Given the description of an element on the screen output the (x, y) to click on. 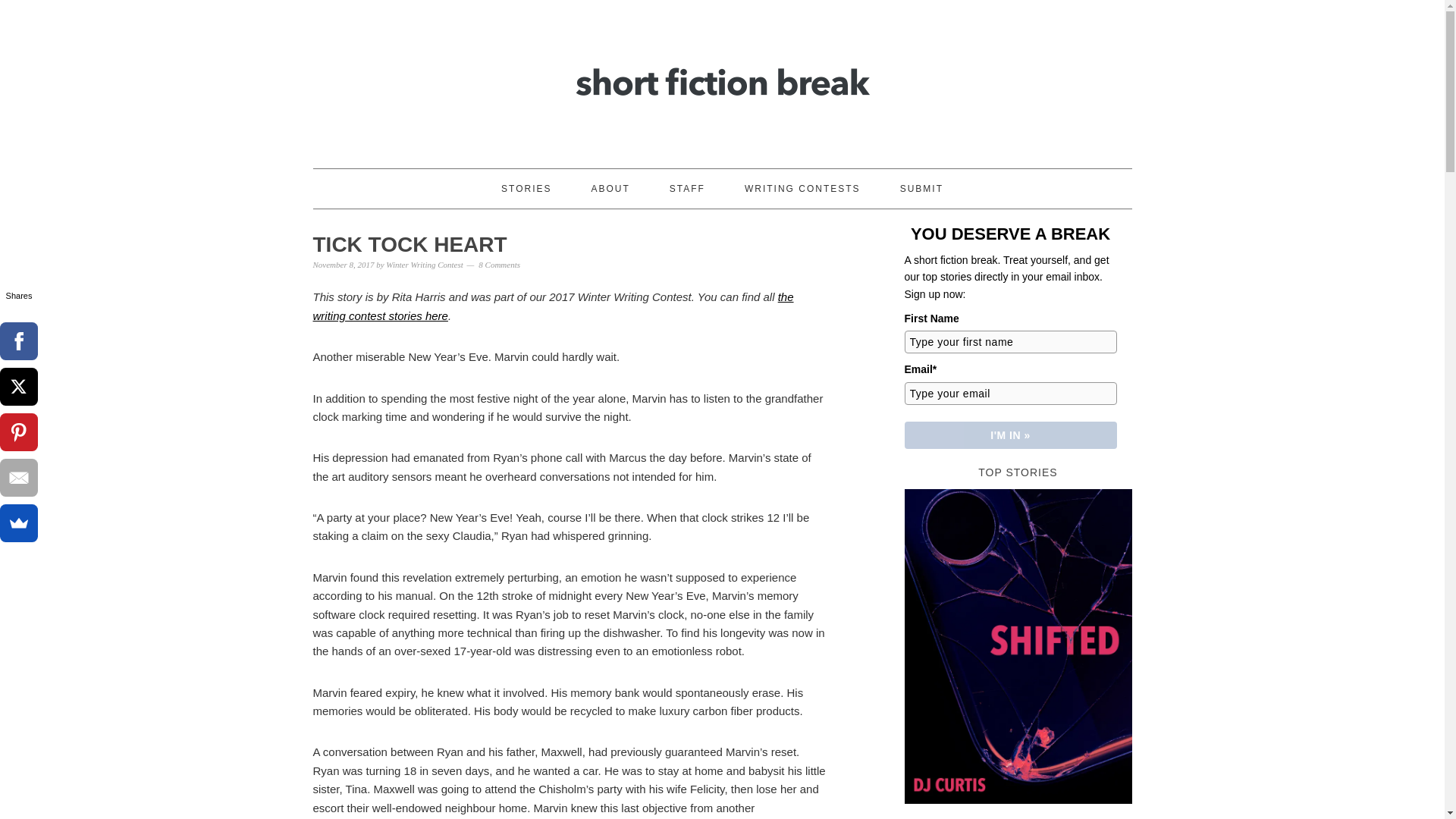
Winter Writing Contest (424, 264)
STORIES (525, 188)
Pinterest (18, 432)
the writing contest stories here (553, 305)
X (18, 386)
ABOUT (609, 188)
SUBMIT (921, 188)
STAFF (686, 188)
SHORT FICTION BREAK (722, 77)
8 Comments (499, 264)
Facebook (18, 341)
Email (18, 477)
WRITING CONTESTS (802, 188)
